Given the description of an element on the screen output the (x, y) to click on. 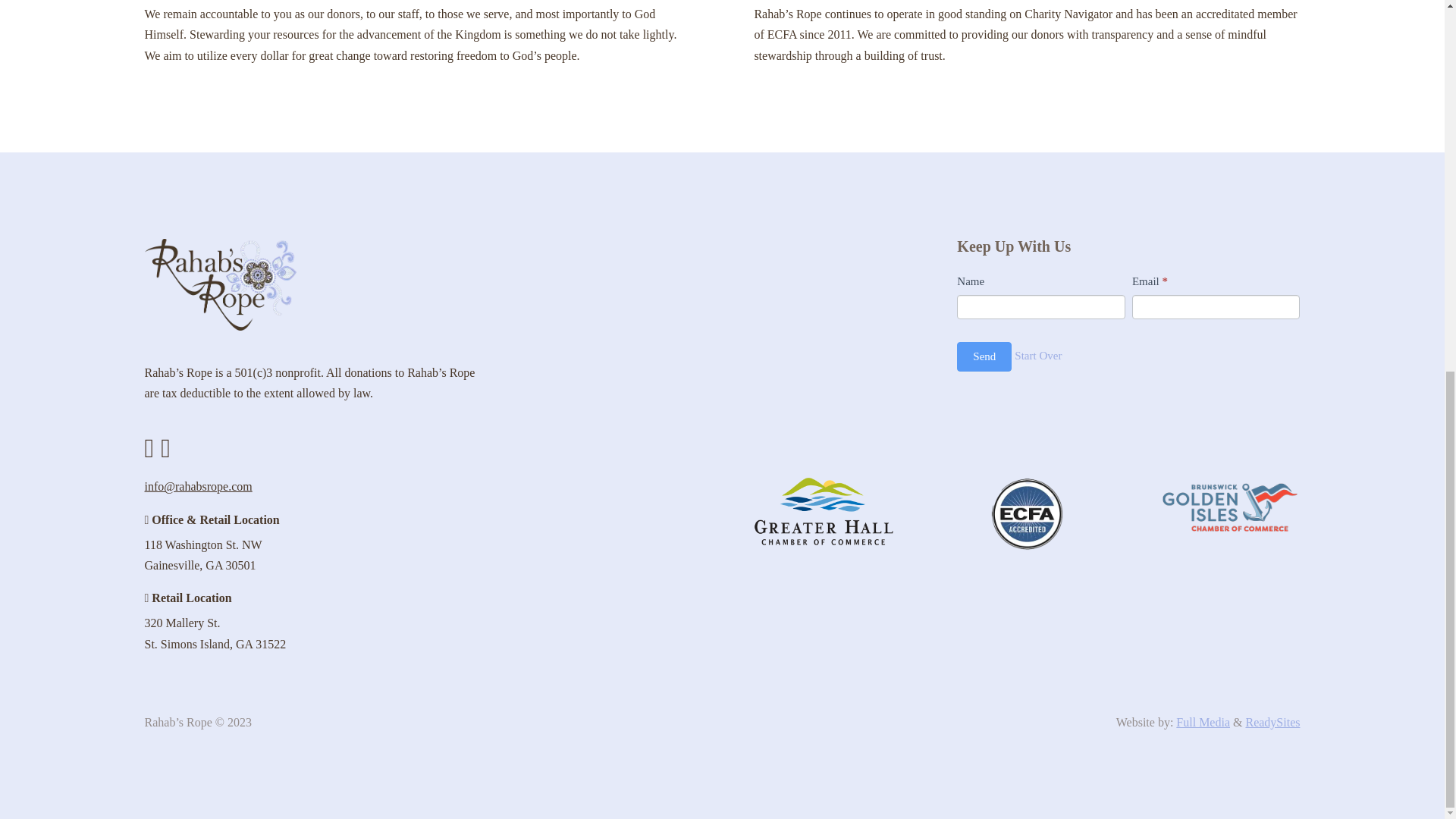
ghcc-logo (823, 510)
rahabs-rope-logo-color (219, 284)
